Given the description of an element on the screen output the (x, y) to click on. 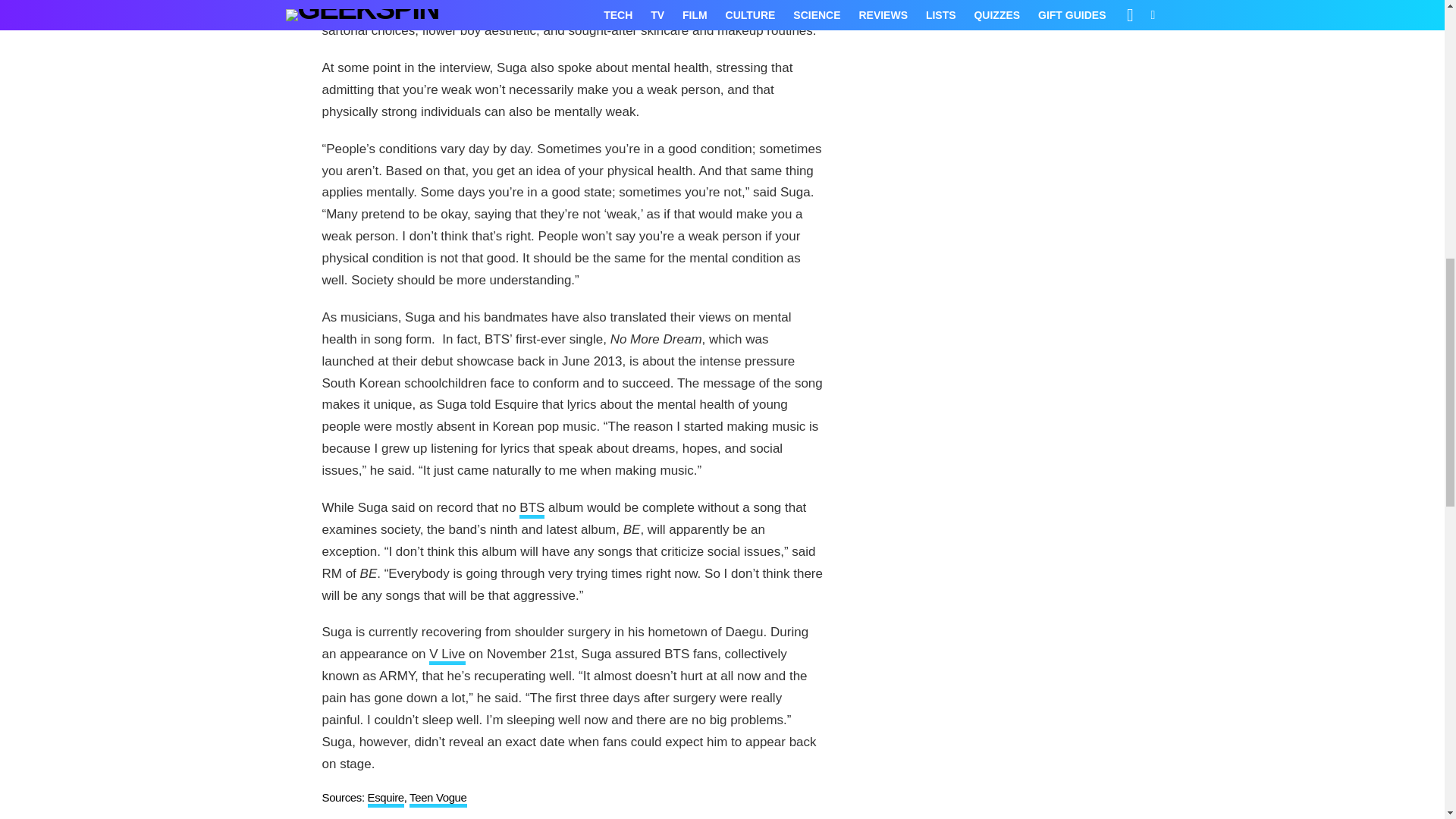
V Live (446, 656)
BTS (531, 509)
Teen Vogue (438, 799)
Esquire (384, 799)
BTS (531, 509)
